Given the description of an element on the screen output the (x, y) to click on. 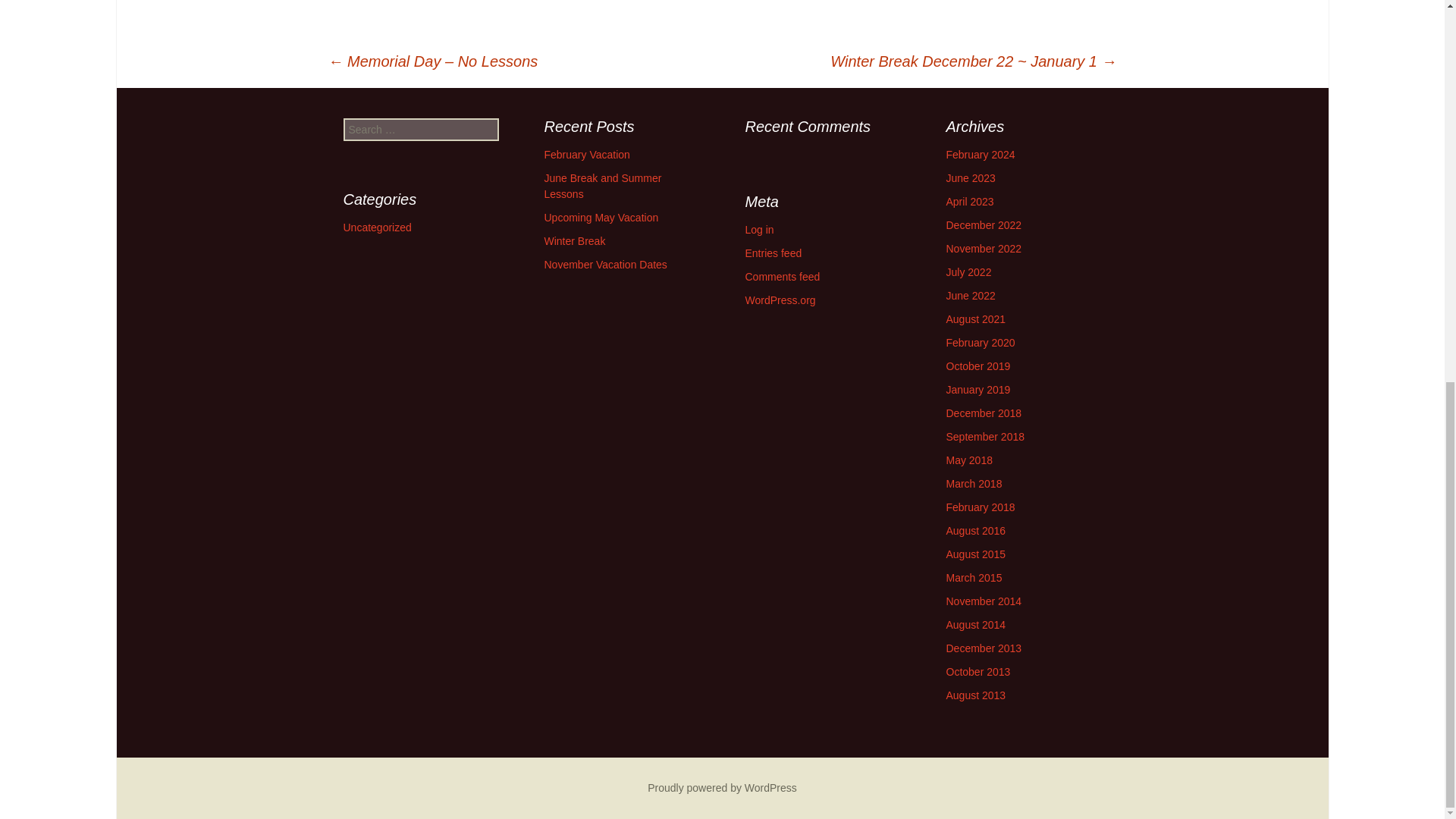
June 2022 (970, 295)
June 2023 (970, 177)
March 2018 (974, 483)
September 2018 (985, 436)
August 2015 (976, 553)
February 2018 (980, 507)
February Vacation (587, 154)
October 2019 (978, 366)
December 2022 (984, 224)
May 2018 (969, 460)
Upcoming May Vacation (601, 217)
February 2024 (980, 154)
February 2020 (980, 342)
July 2022 (968, 272)
December 2018 (984, 413)
